Given the description of an element on the screen output the (x, y) to click on. 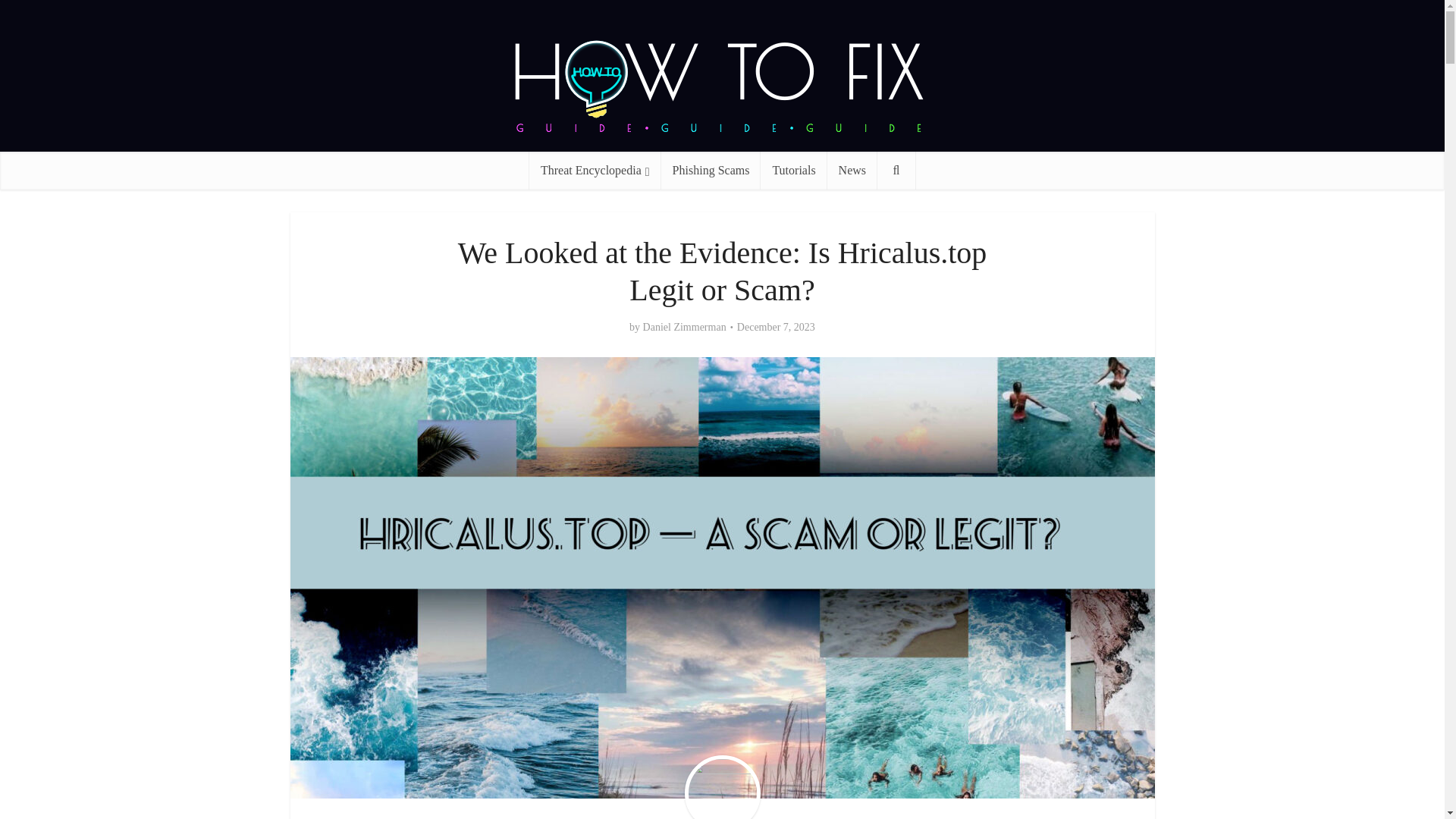
Daniel Zimmerman (684, 327)
Phishing Scams (711, 170)
News (852, 170)
Threat Encyclopedia (595, 170)
Tutorials (793, 170)
